Given the description of an element on the screen output the (x, y) to click on. 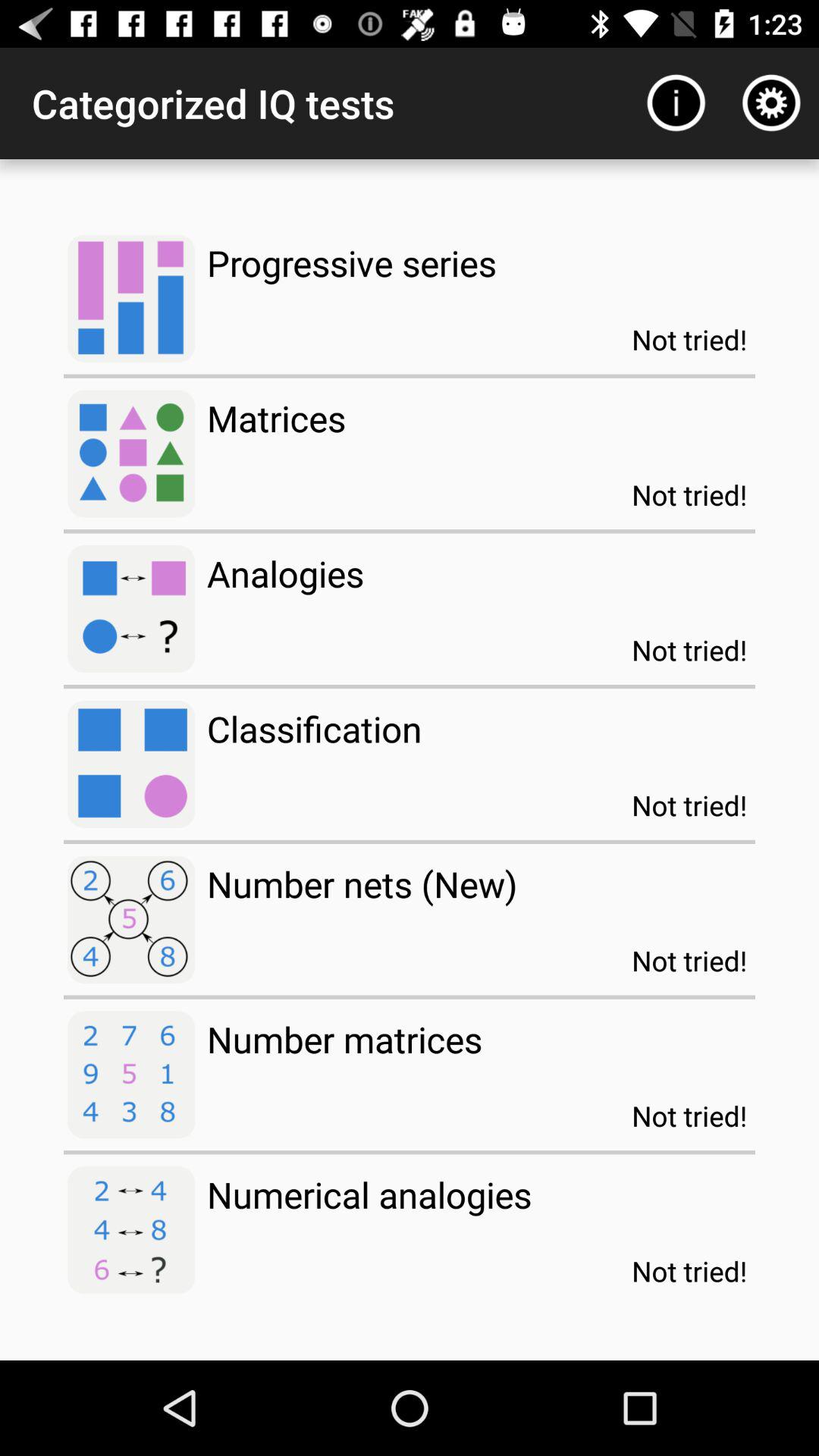
tap progressive series app (351, 262)
